Given the description of an element on the screen output the (x, y) to click on. 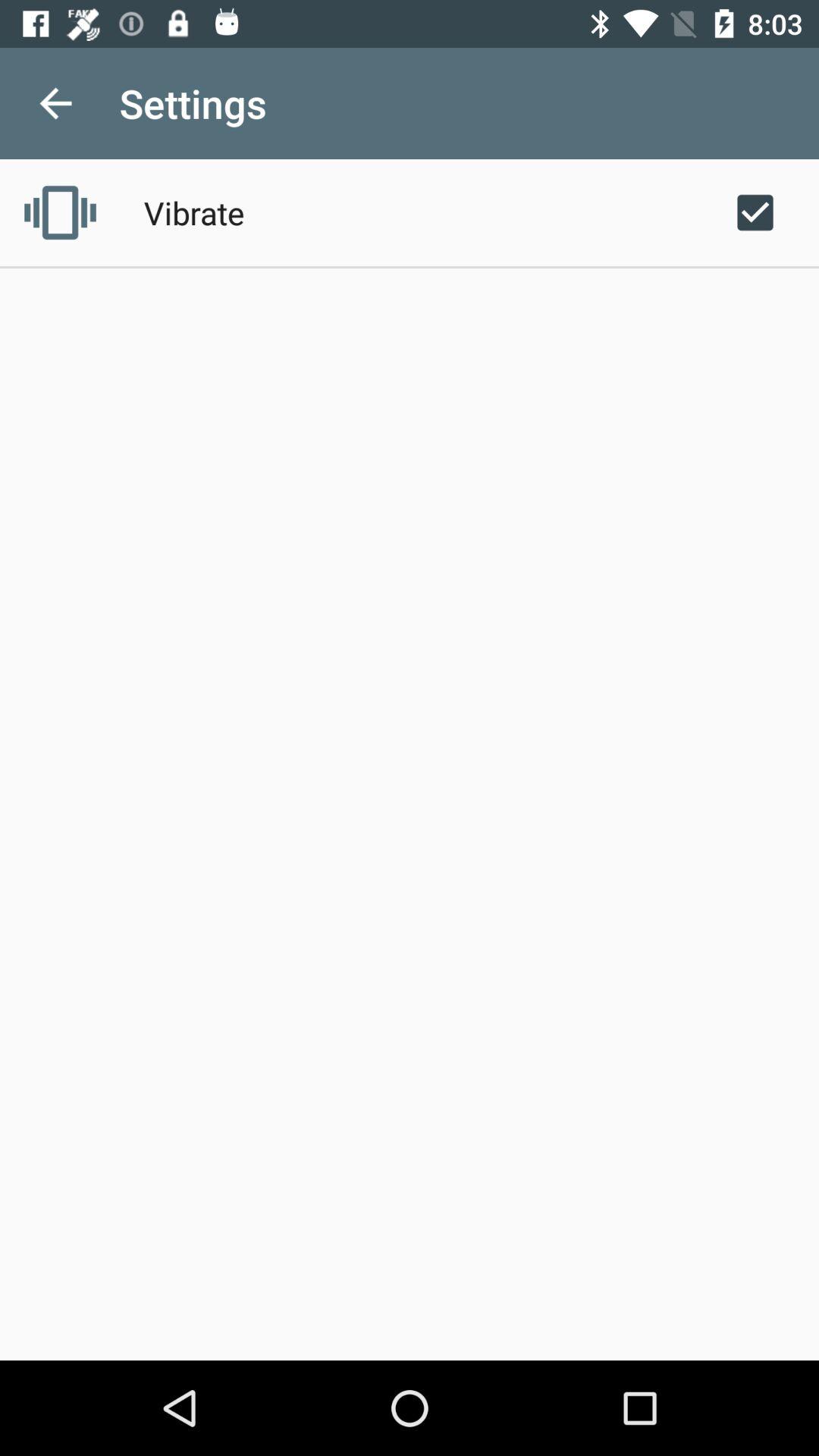
choose the item to the right of vibrate (755, 212)
